Given the description of an element on the screen output the (x, y) to click on. 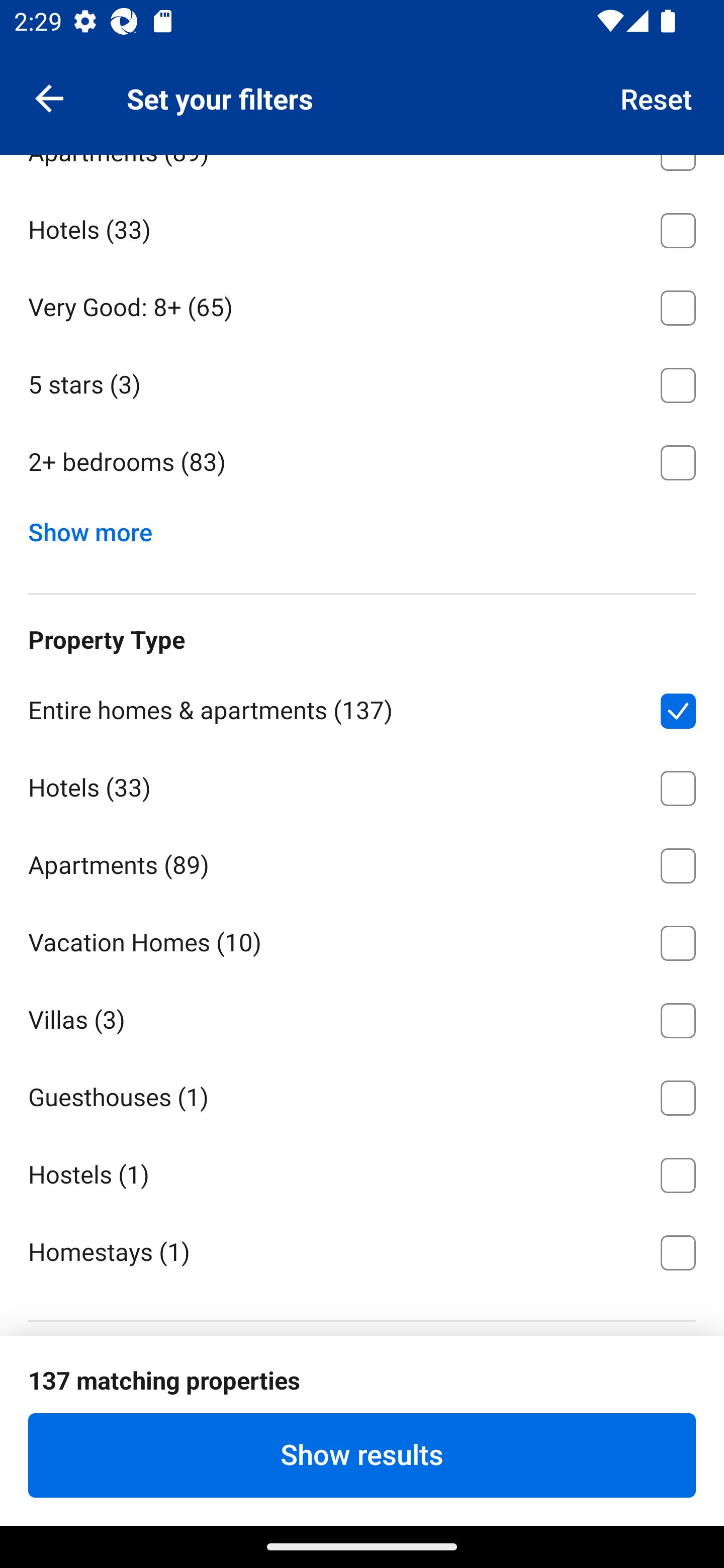
Navigate up (49, 97)
Reset (656, 97)
Hotels ⁦(33) (361, 227)
Very Good: 8+ ⁦(65) (361, 304)
5 stars ⁦(3) (361, 381)
2+ bedrooms ⁦(83) (361, 462)
Show more (97, 527)
Entire homes & apartments ⁦(137) (361, 707)
Hotels ⁦(33) (361, 784)
Apartments ⁦(89) (361, 862)
Vacation Homes ⁦(10) (361, 939)
Villas ⁦(3) (361, 1016)
Guesthouses ⁦(1) (361, 1094)
Hostels ⁦(1) (361, 1171)
Homestays ⁦(1) (361, 1251)
Show results (361, 1454)
